Given the description of an element on the screen output the (x, y) to click on. 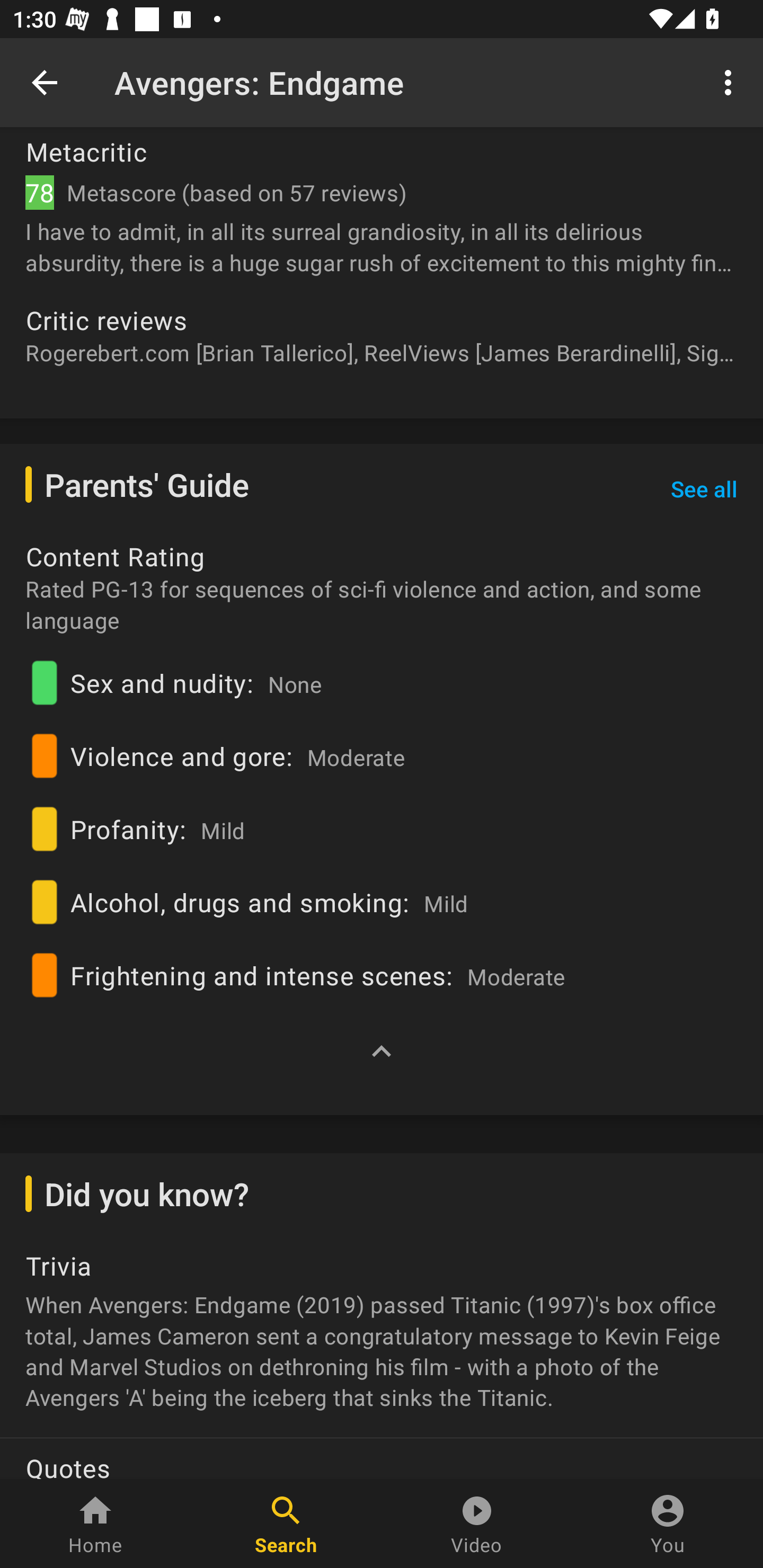
More options (731, 81)
See all See all  (703, 488)
Quotes (381, 1457)
Home (95, 1523)
Video (476, 1523)
You (667, 1523)
